Given the description of an element on the screen output the (x, y) to click on. 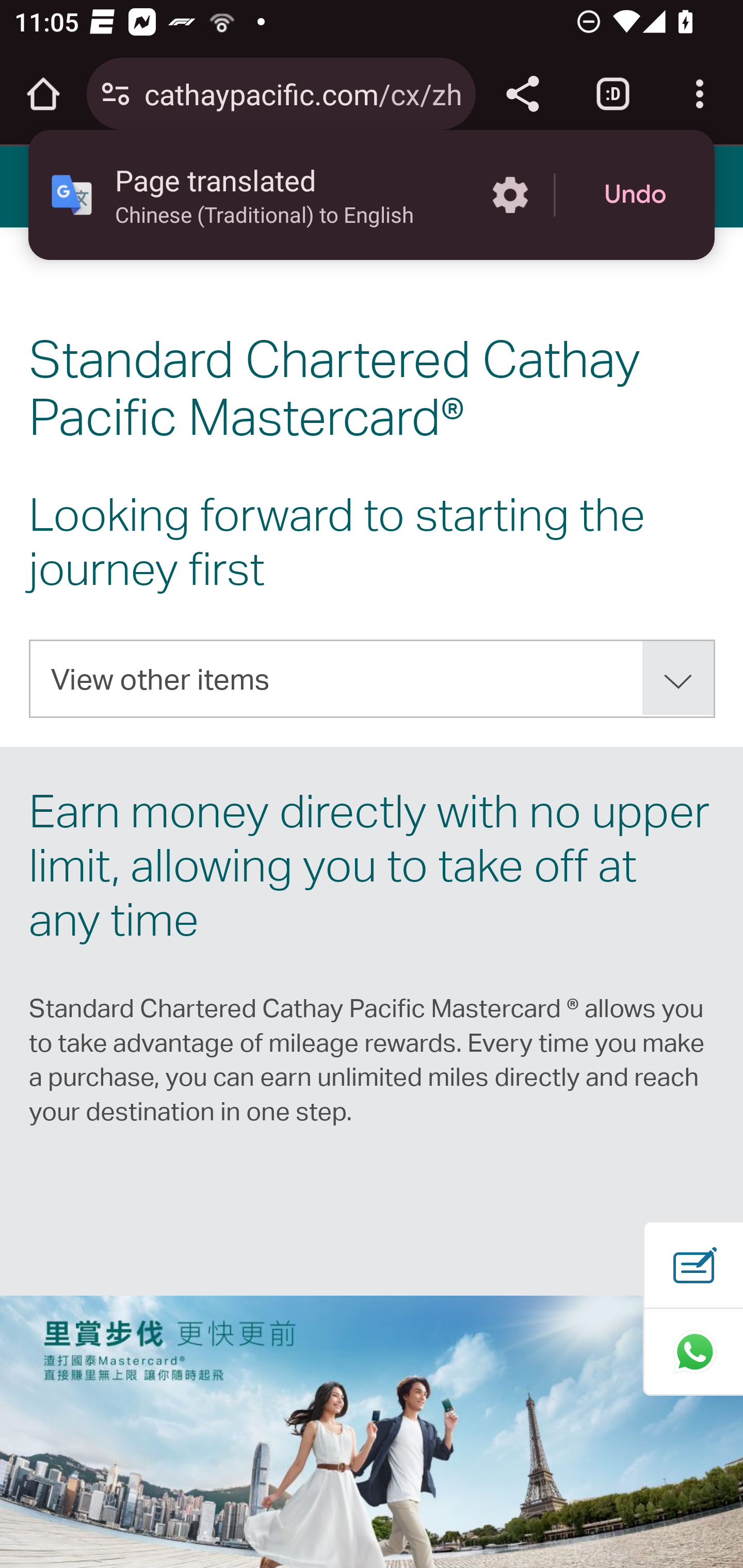
Open the home page (43, 93)
Connection is secure (115, 93)
Share (522, 93)
Switch or close tabs (612, 93)
Customize and control Google Chrome (699, 93)
Undo (634, 195)
Menu (47, 186)
More options in the Page translated (509, 195)
